Given the description of an element on the screen output the (x, y) to click on. 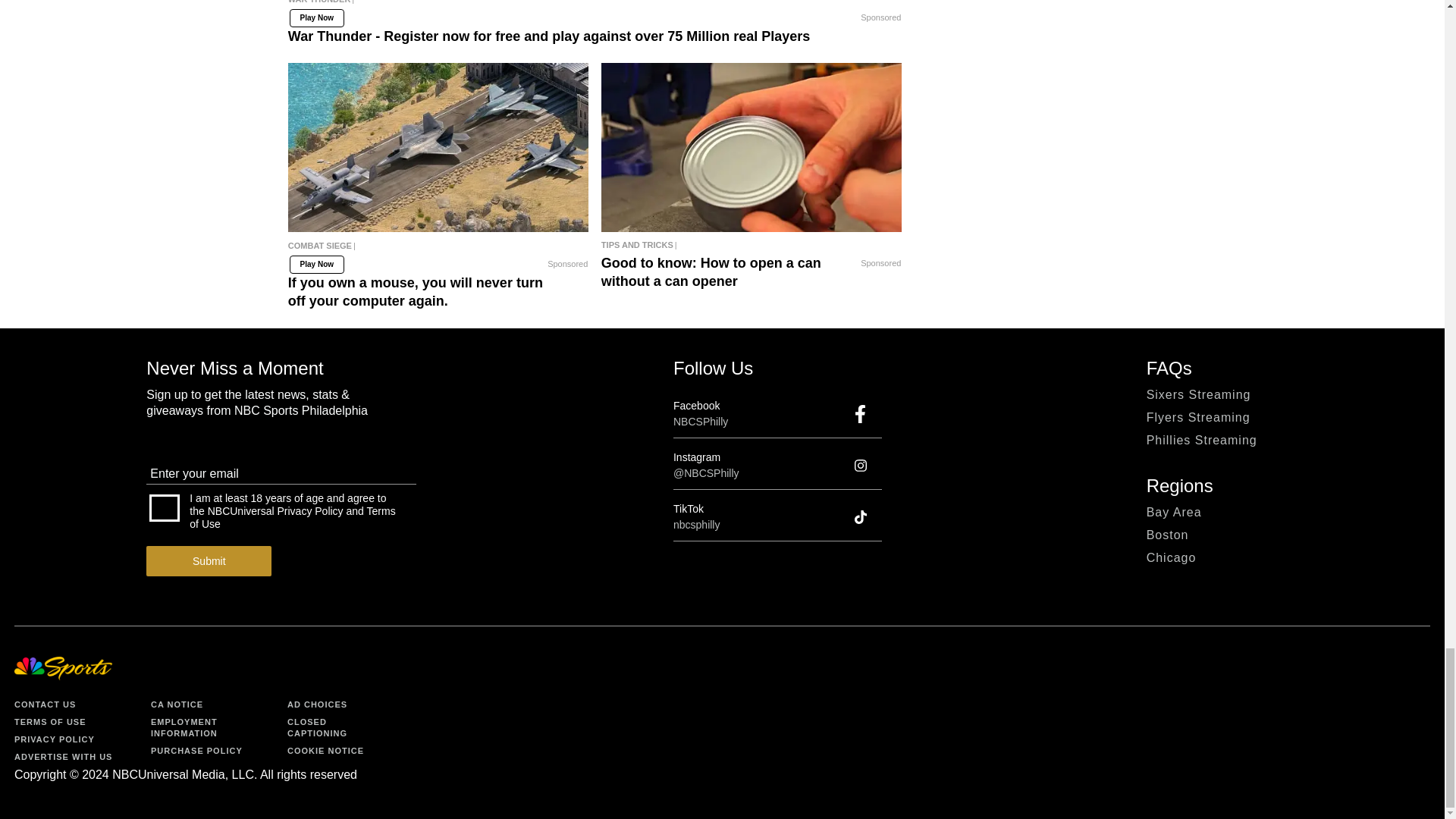
Good to know: How to open a can without a can opener (751, 147)
on (164, 507)
